Given the description of an element on the screen output the (x, y) to click on. 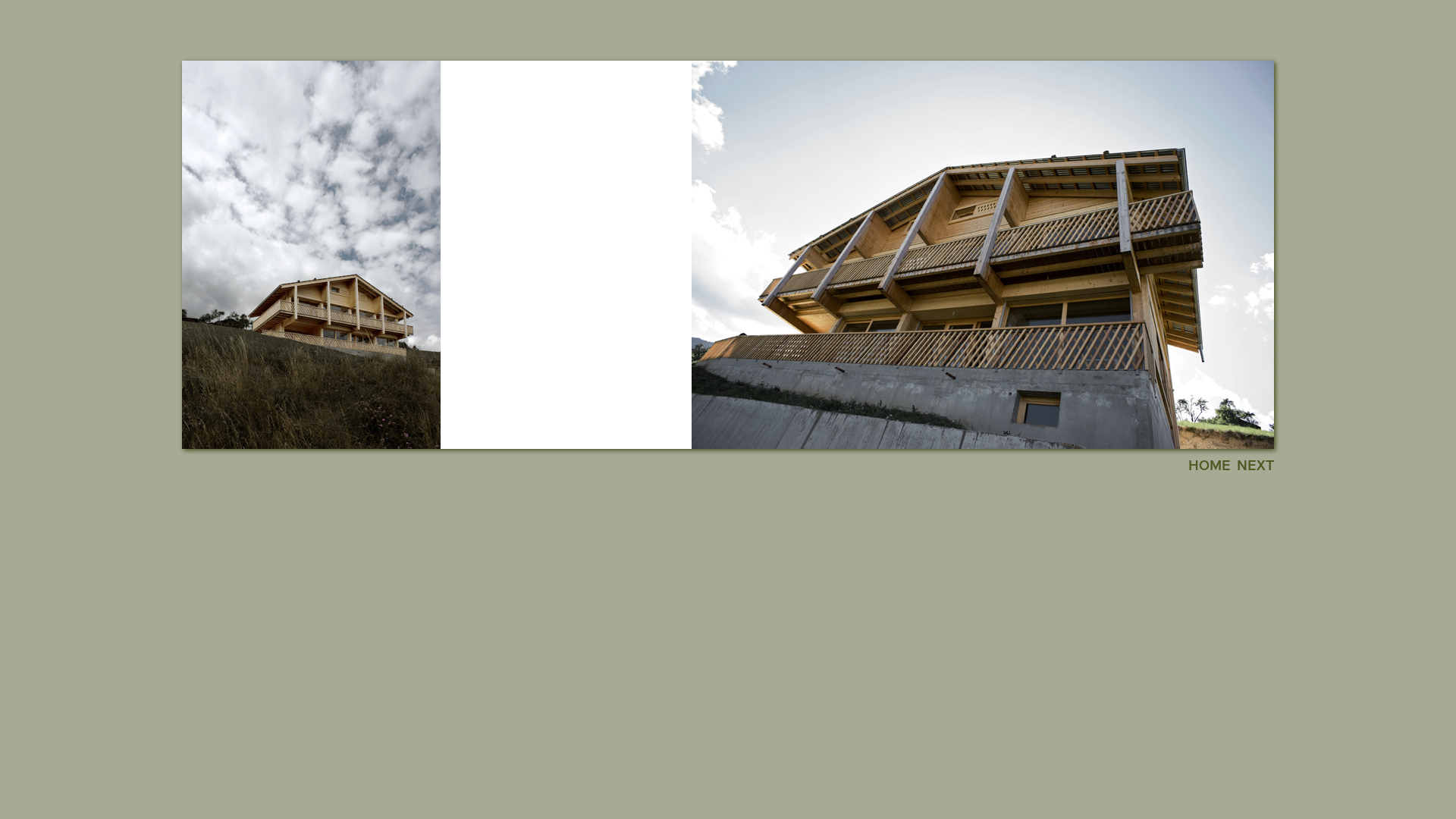
NEXT Element type: text (1255, 465)
HOME Element type: text (1209, 465)
